Given the description of an element on the screen output the (x, y) to click on. 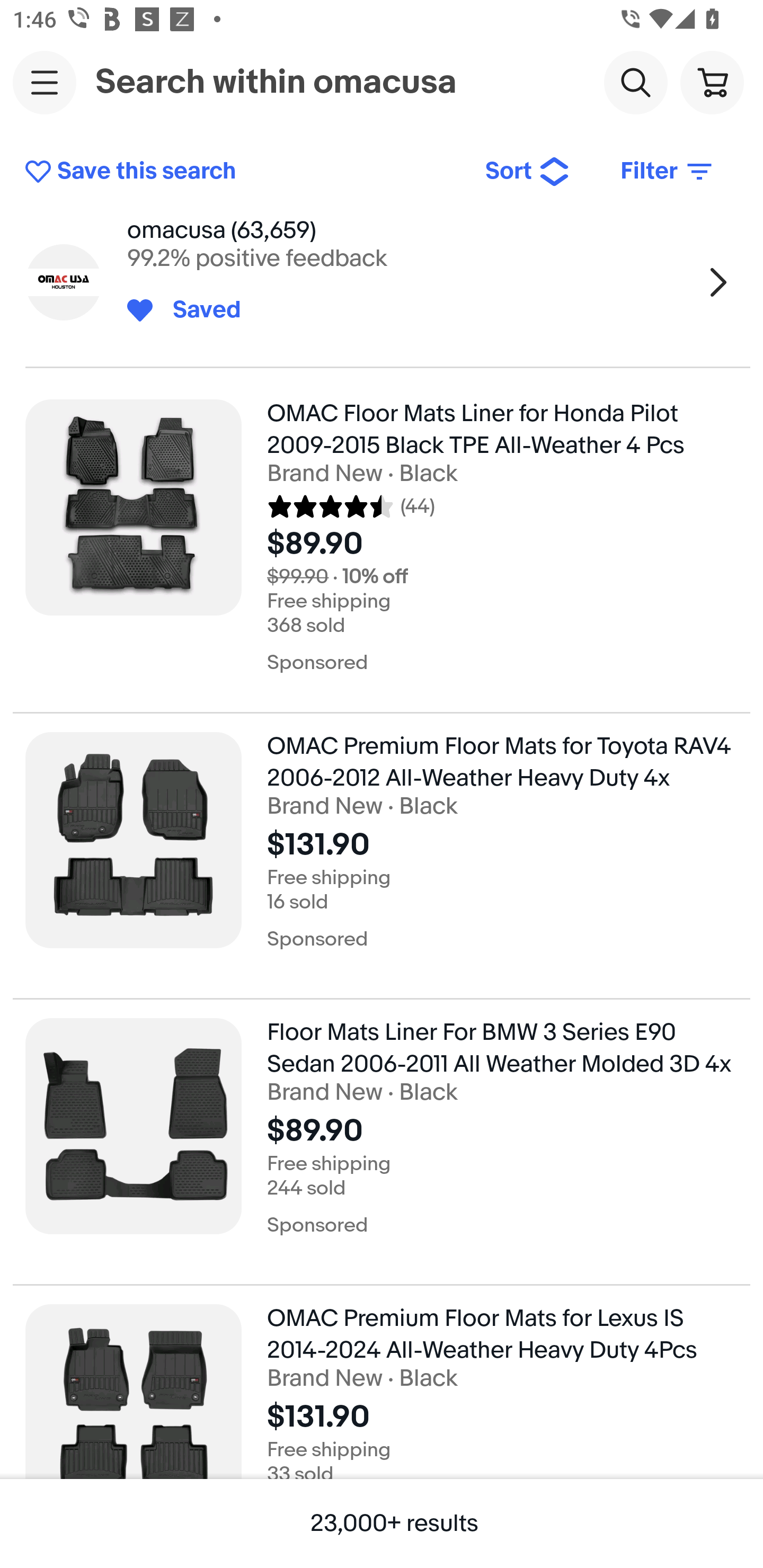
Main navigation, open (44, 82)
Search (635, 81)
Cart button shopping cart (711, 81)
Save this search (241, 171)
Sort (527, 171)
Filter (667, 171)
omacusa (63,659) 99.2% positive feedback Saved (381, 282)
Saved (197, 310)
